Given the description of an element on the screen output the (x, y) to click on. 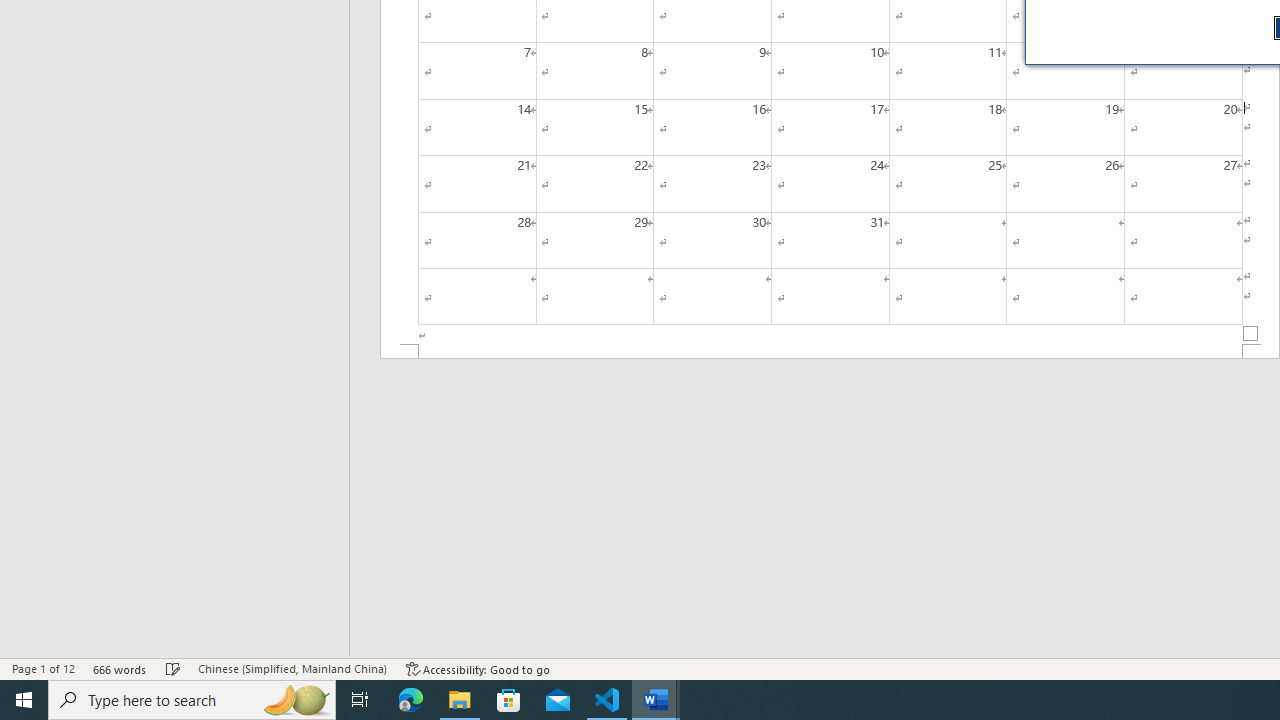
Visual Studio Code - 1 running window (607, 699)
